Given the description of an element on the screen output the (x, y) to click on. 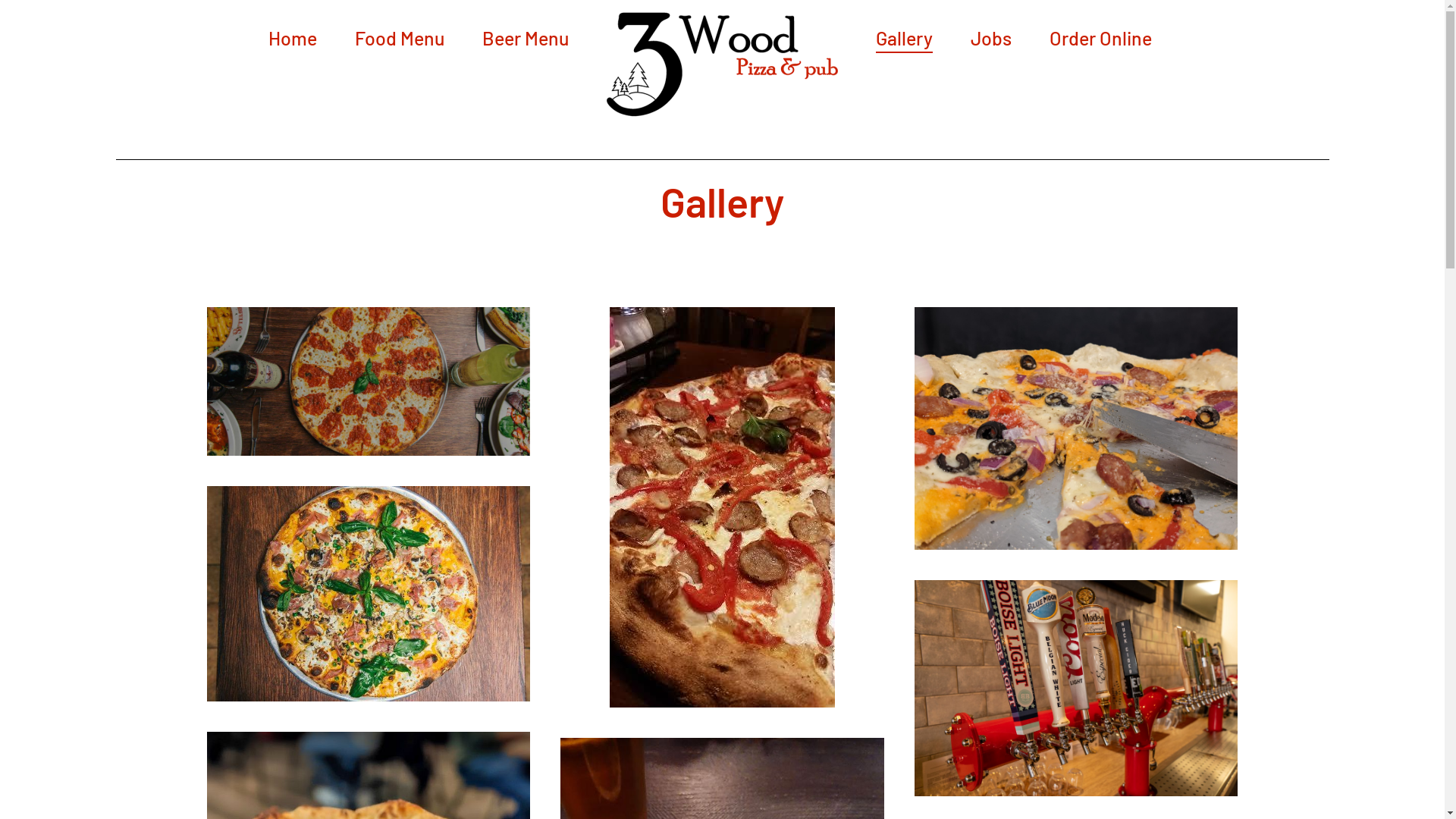
Order Online Element type: text (1100, 37)
Gallery Element type: text (903, 37)
Home Element type: text (292, 37)
Jobs Element type: text (990, 37)
Food Menu Element type: text (399, 37)
Beer Menu Element type: text (525, 37)
